Given the description of an element on the screen output the (x, y) to click on. 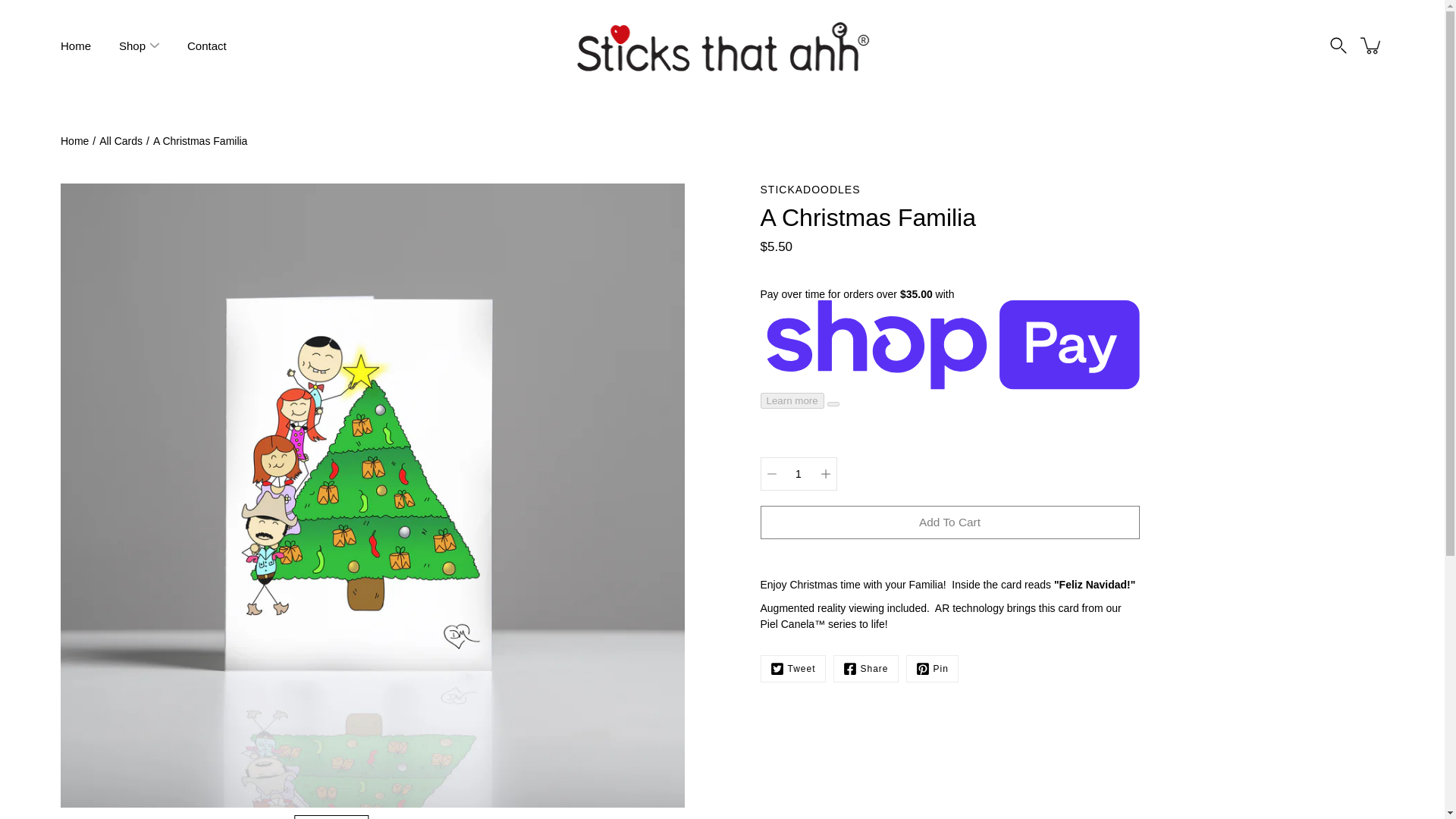
Home (74, 141)
Pinterest (931, 668)
Twitter (792, 668)
All Cards (120, 141)
Home (75, 45)
Facebook (865, 668)
Contact (207, 45)
Shop (132, 45)
1 (797, 473)
Back to the Homepage (74, 141)
